Given the description of an element on the screen output the (x, y) to click on. 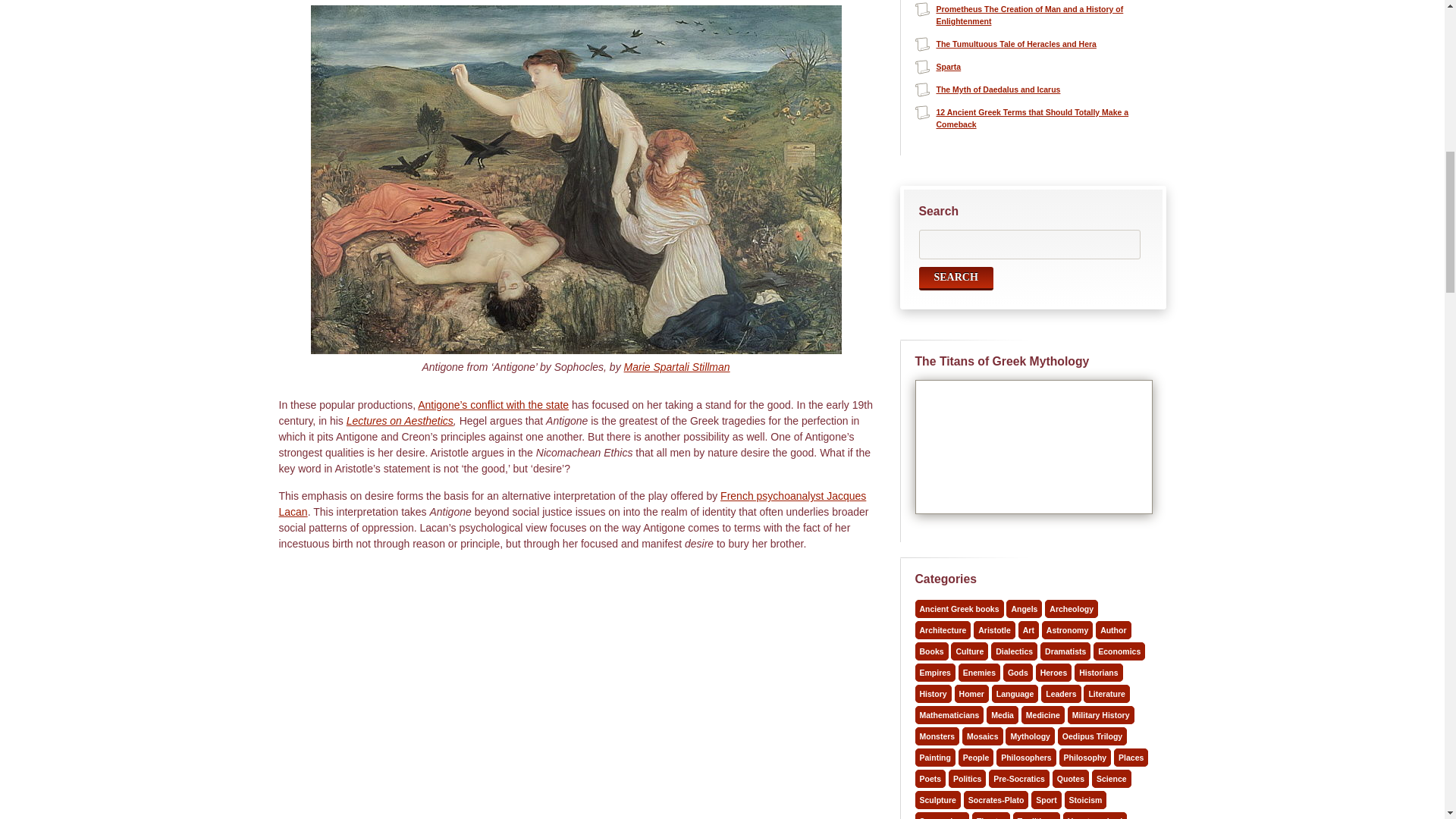
Search (955, 278)
The Titans of Greek Mythology  (1041, 521)
